Given the description of an element on the screen output the (x, y) to click on. 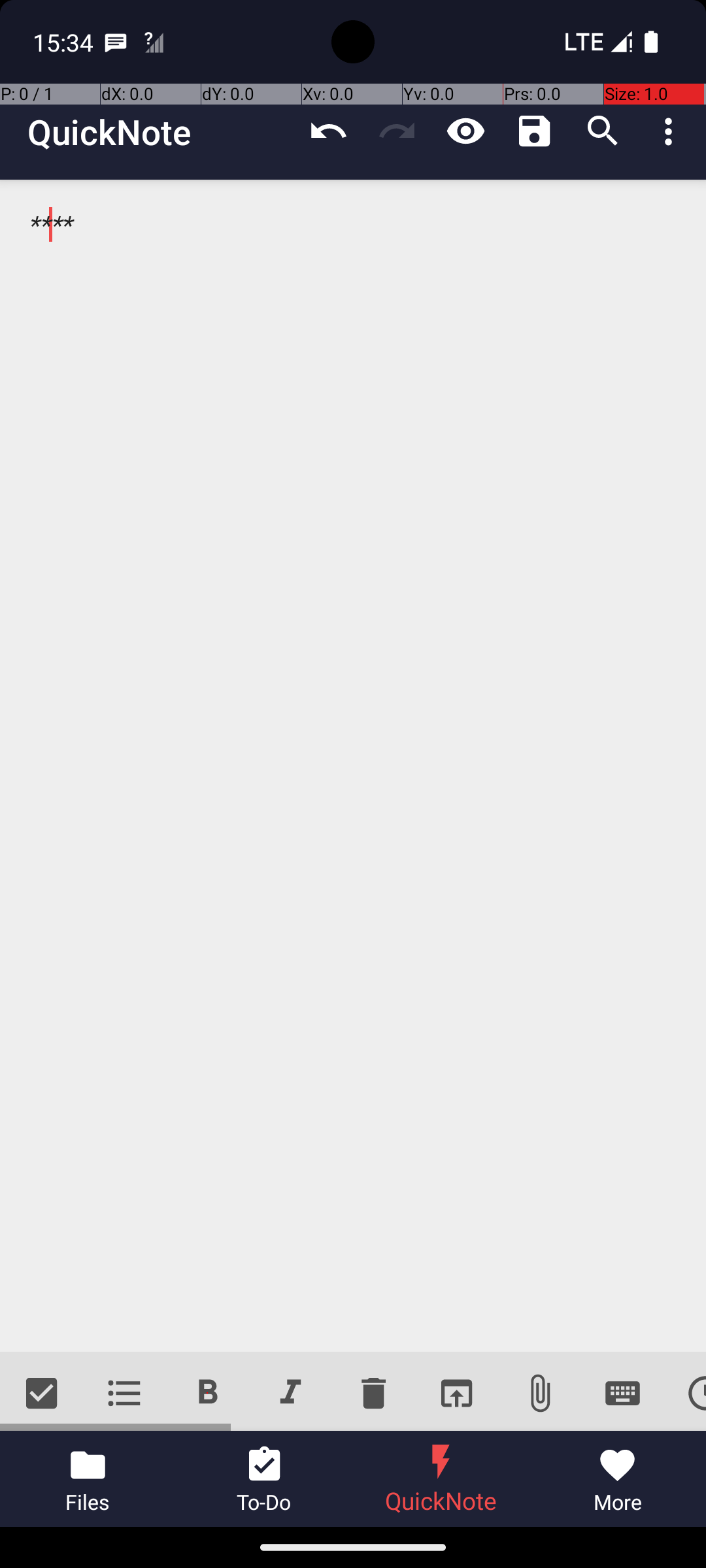
**** Element type: android.widget.EditText (353, 765)
